Given the description of an element on the screen output the (x, y) to click on. 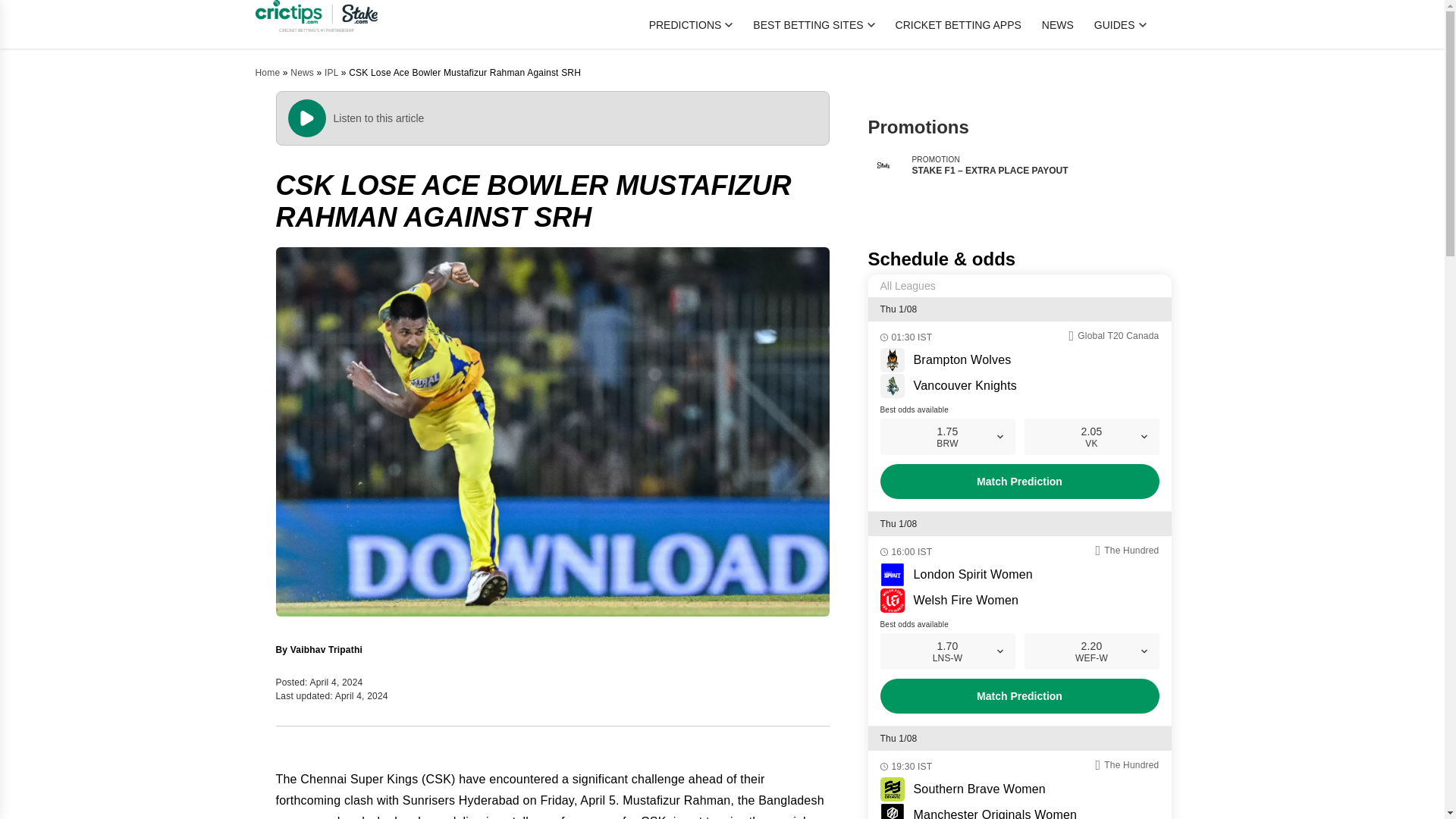
Play (307, 118)
CRICKET BETTING APPS (958, 24)
PREDICTIONS (691, 24)
NEWS (1058, 24)
Vaibhav Tripathi (325, 649)
GUIDES (1120, 24)
News (301, 72)
Home (266, 72)
BEST BETTING SITES (813, 24)
Play (19, 7)
IPL (330, 72)
